Given the description of an element on the screen output the (x, y) to click on. 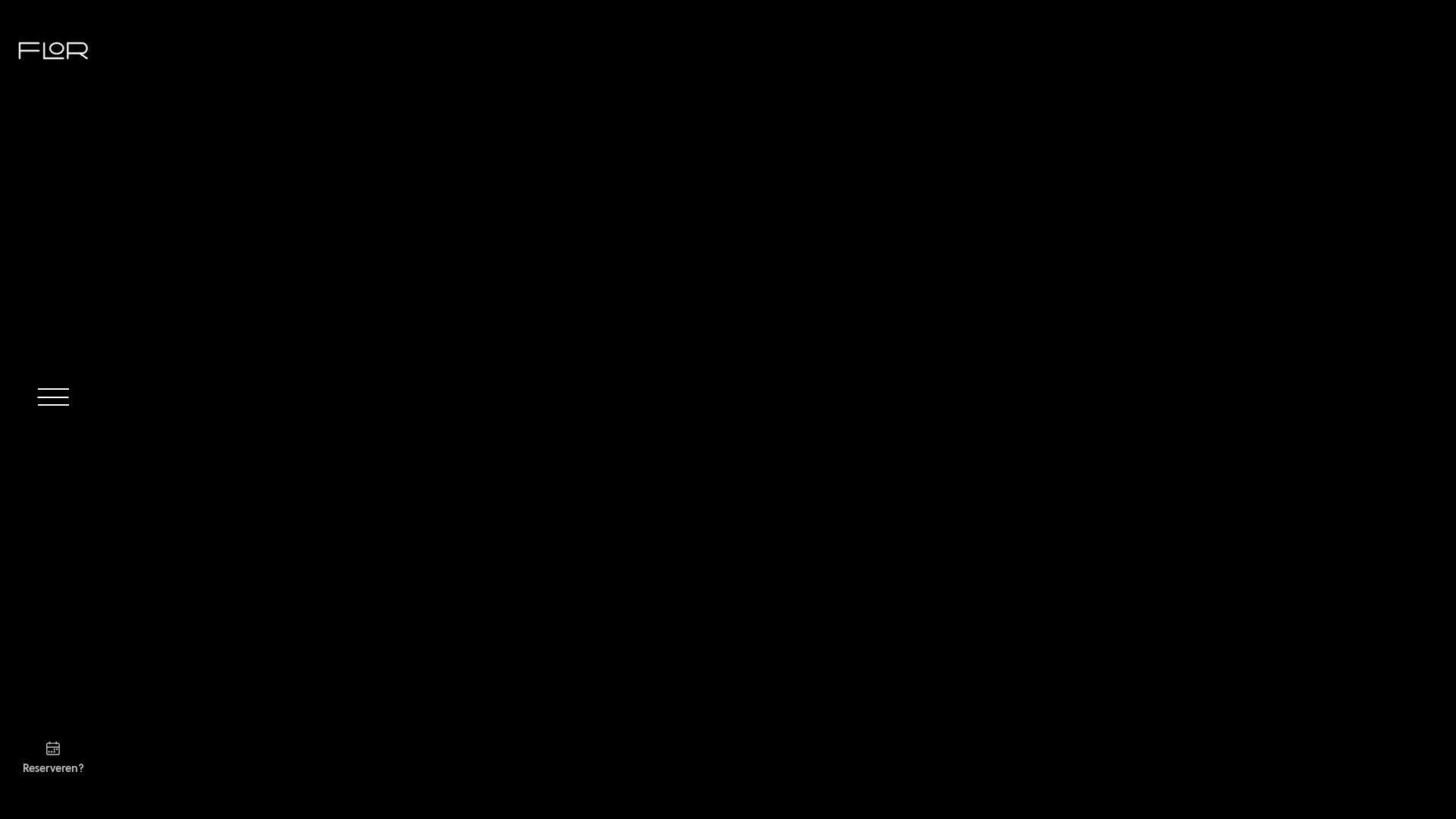
Reserveren? Element type: text (53, 755)
